Given the description of an element on the screen output the (x, y) to click on. 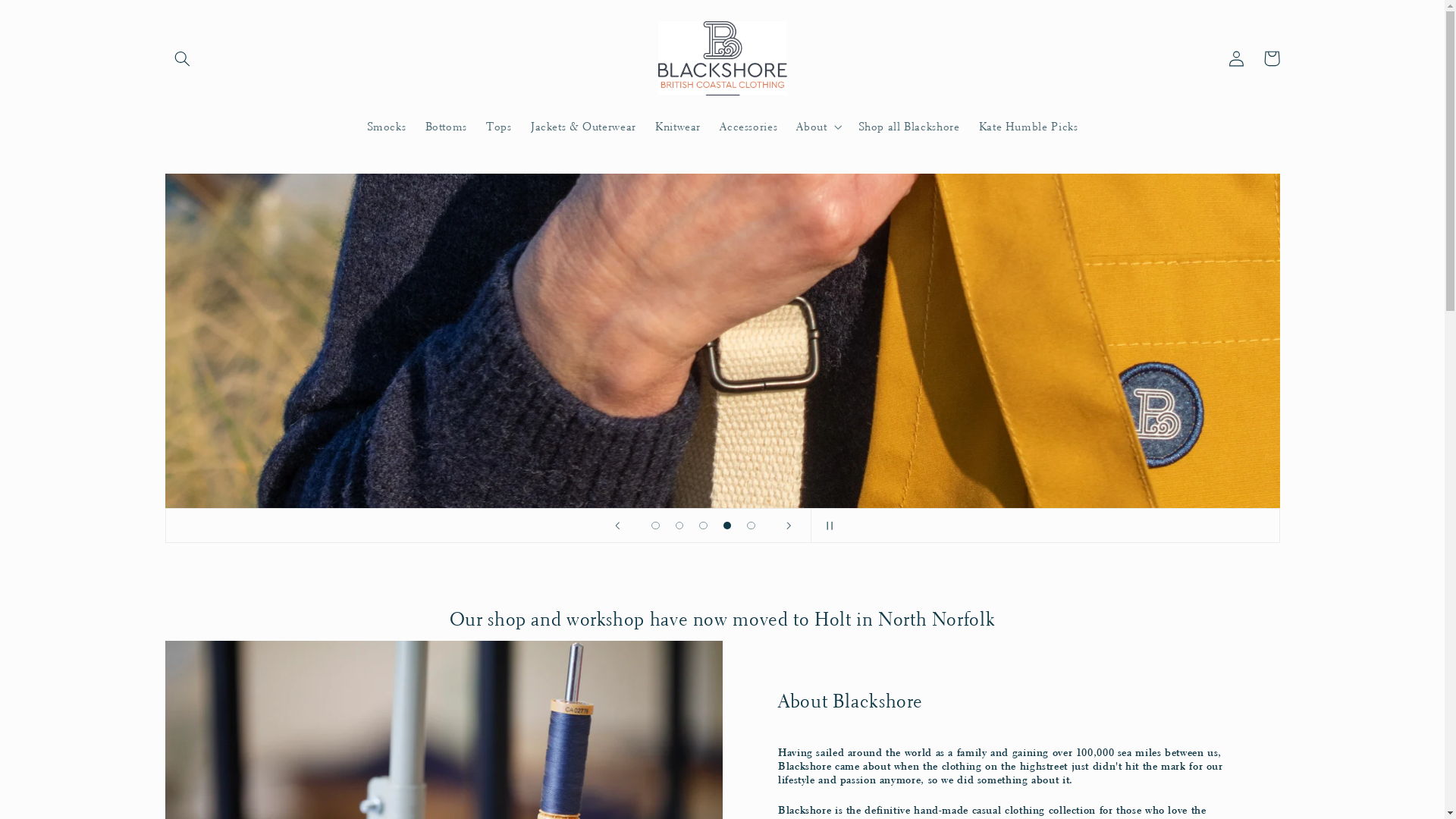
Jackets & Outerwear Element type: text (582, 126)
Log in Element type: text (1236, 57)
Shop all Blackshore Element type: text (908, 126)
Knitwear Element type: text (677, 126)
Accessories Element type: text (748, 126)
Smocks Element type: text (386, 126)
Cart Element type: text (1271, 57)
Kate Humble Picks Element type: text (1028, 126)
Bottoms Element type: text (445, 126)
Tops Element type: text (498, 126)
